Given the description of an element on the screen output the (x, y) to click on. 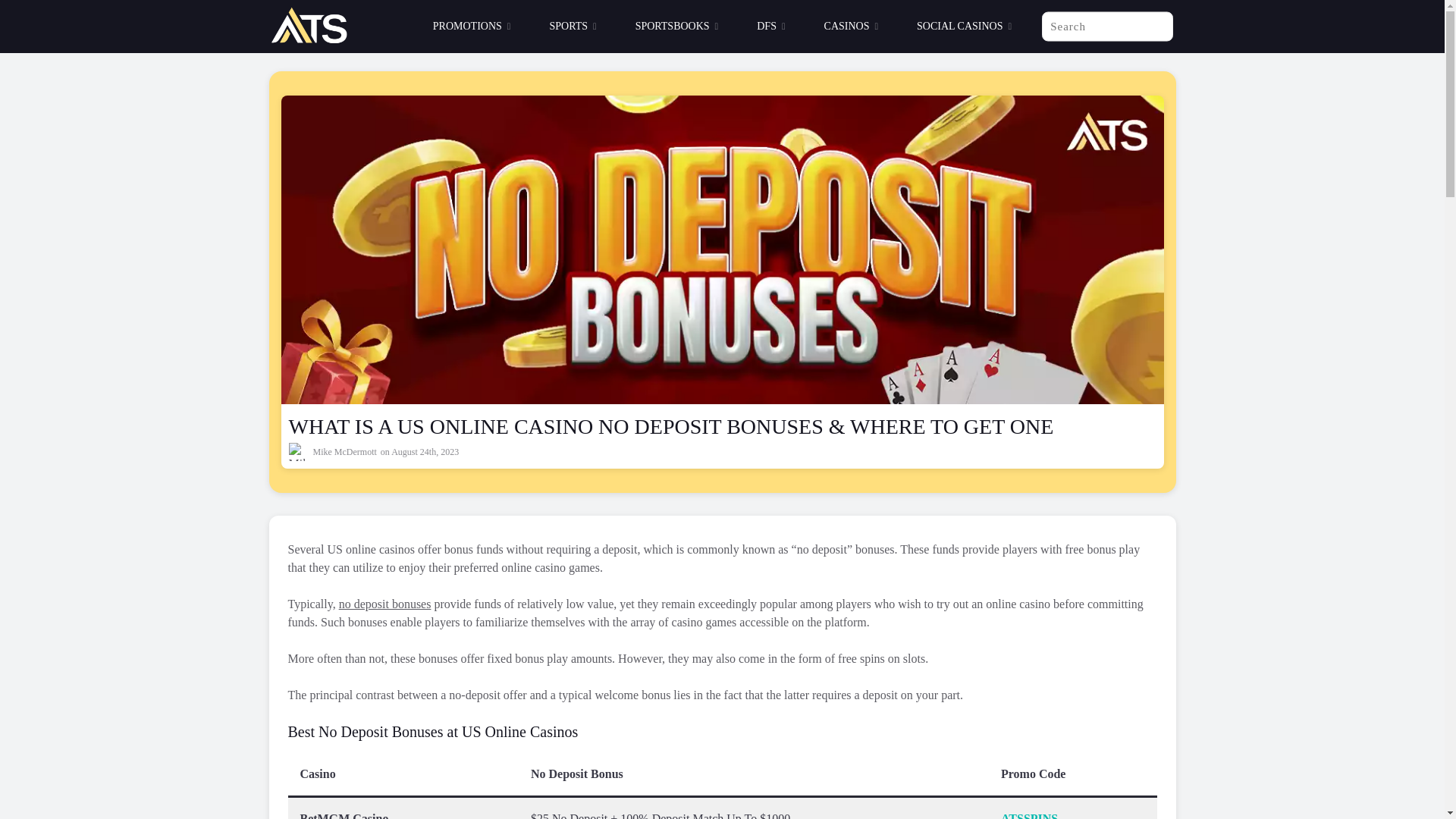
PROMOTIONS (471, 26)
Posts by Mike McDermott (344, 451)
